Given the description of an element on the screen output the (x, y) to click on. 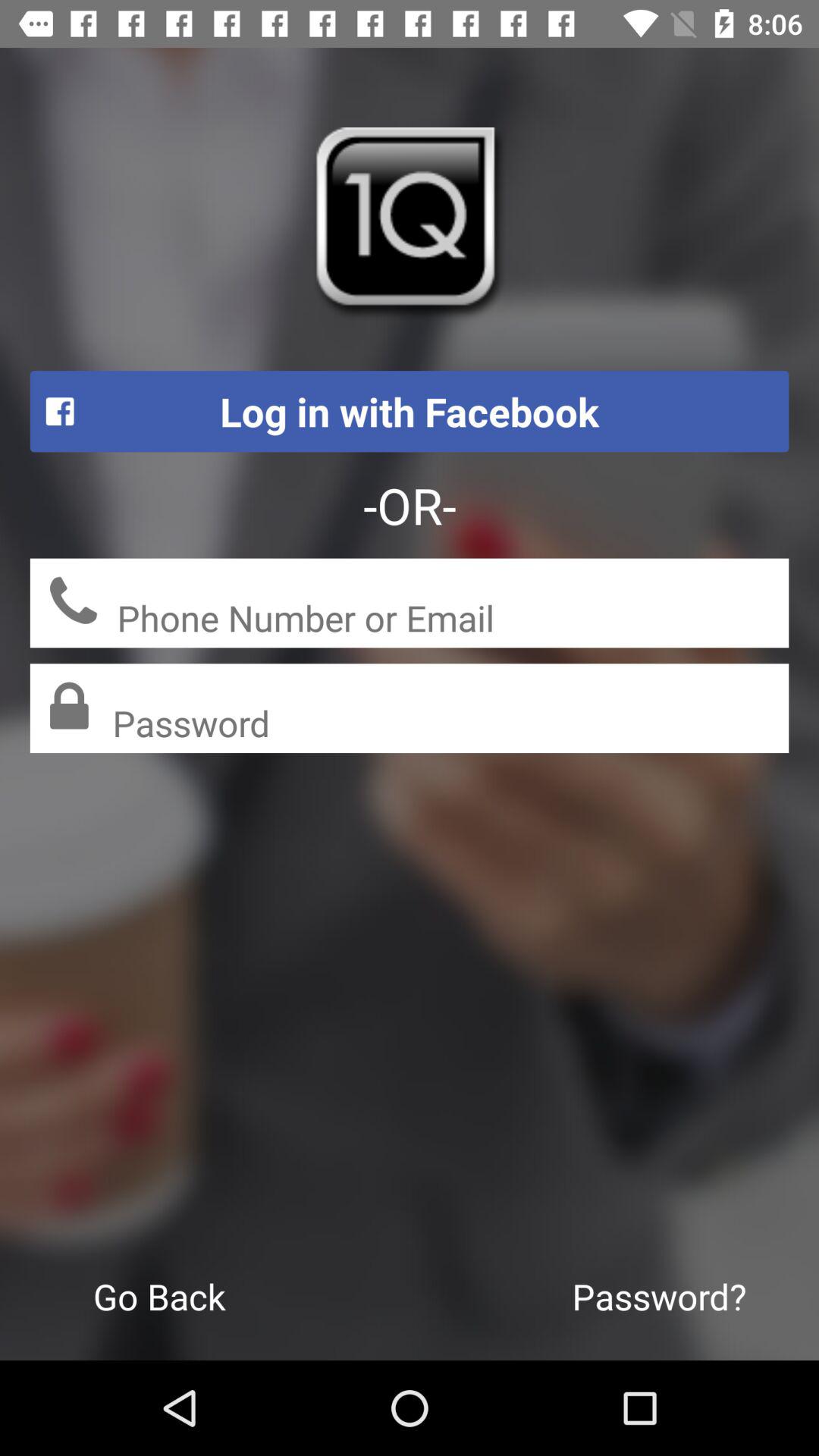
turn off item at the bottom right corner (658, 1296)
